Given the description of an element on the screen output the (x, y) to click on. 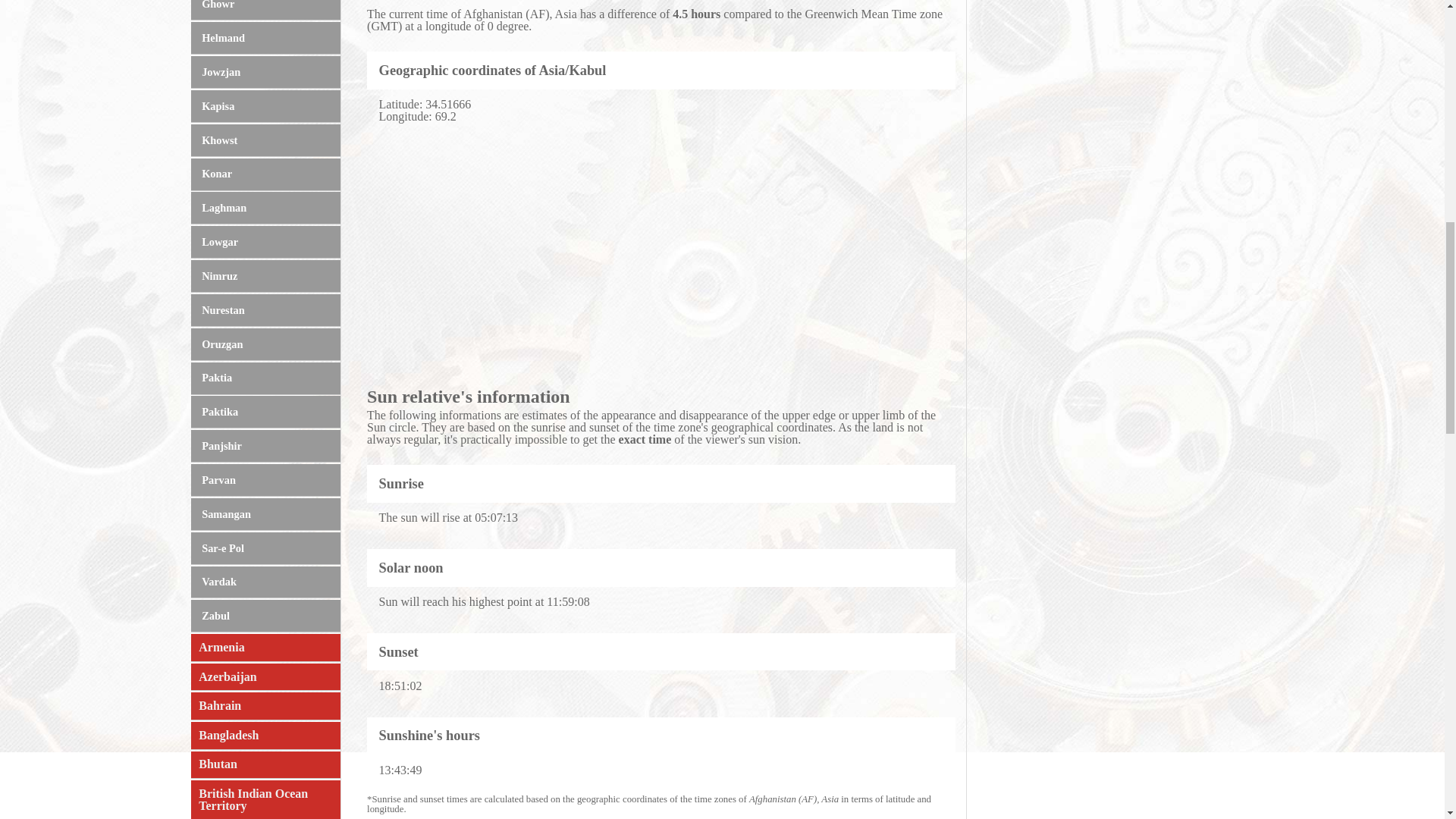
Oruzgan (264, 344)
Konar (264, 174)
Nurestan (264, 310)
Ghowr (264, 10)
Laghman (264, 207)
Khowst (264, 140)
Nimruz (264, 276)
Helmand (264, 38)
Jowzjan (264, 72)
Kapisa (264, 106)
Paktia (264, 378)
Lowgar (264, 242)
